Given the description of an element on the screen output the (x, y) to click on. 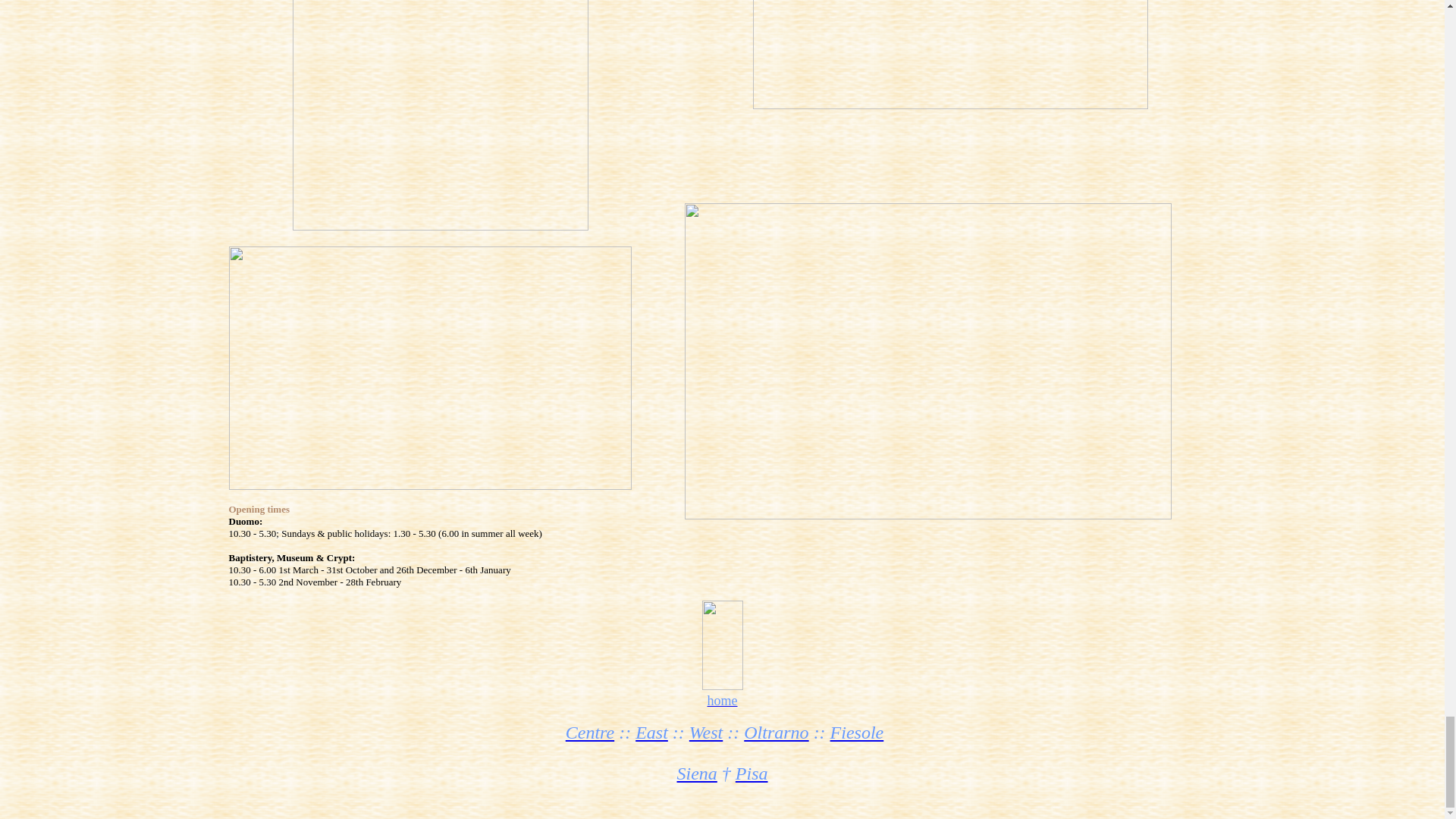
Fiesole (856, 732)
home (721, 700)
Pisa (751, 772)
Centre (590, 732)
East (651, 732)
Oltrarno (776, 732)
West (705, 732)
Siena (696, 772)
